Given the description of an element on the screen output the (x, y) to click on. 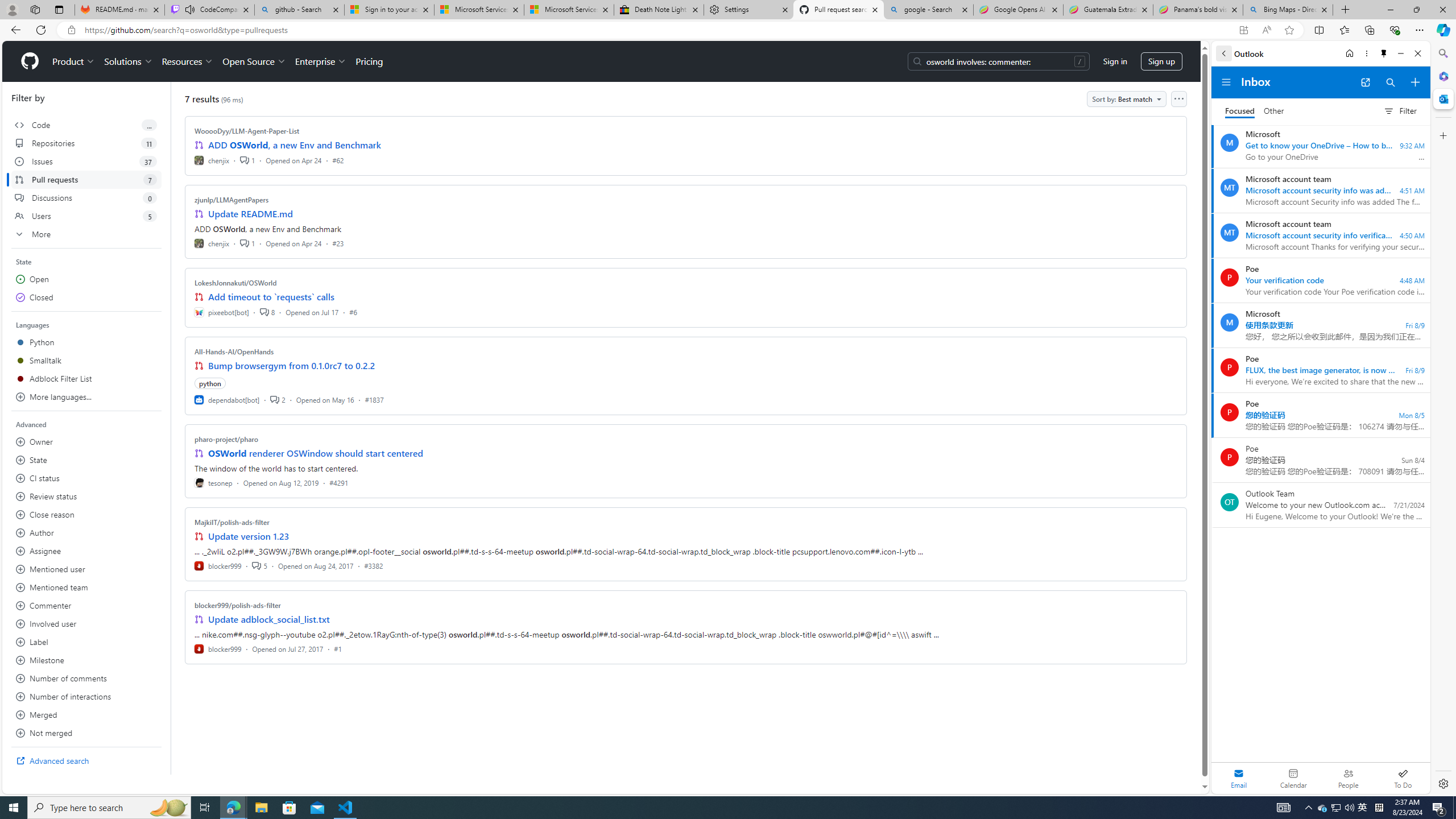
Enterprise (319, 60)
Side bar (1443, 418)
Selected mail module (1238, 777)
Unpin side pane (1383, 53)
